Given the description of an element on the screen output the (x, y) to click on. 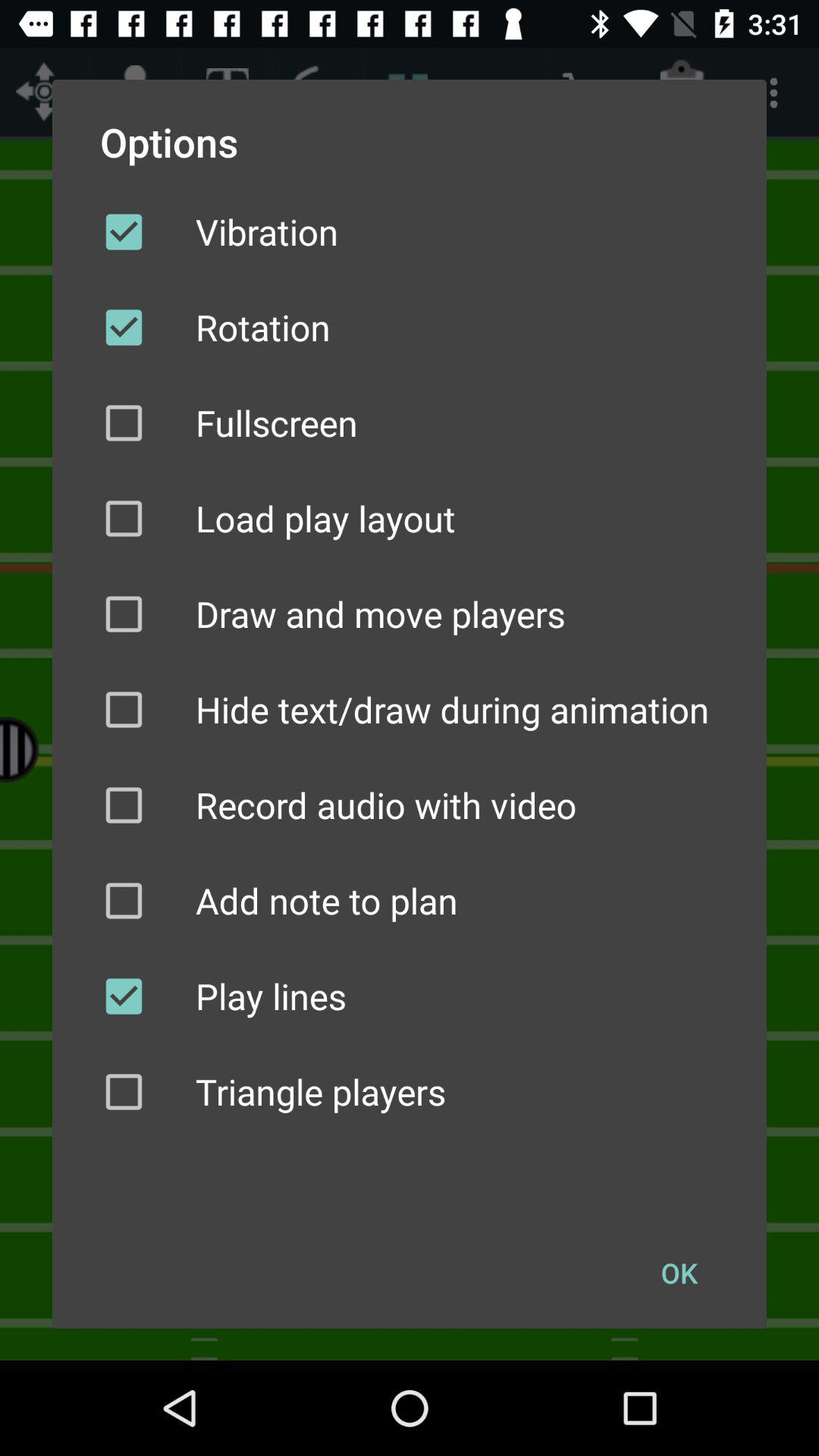
tap icon at the bottom right corner (678, 1272)
